Given the description of an element on the screen output the (x, y) to click on. 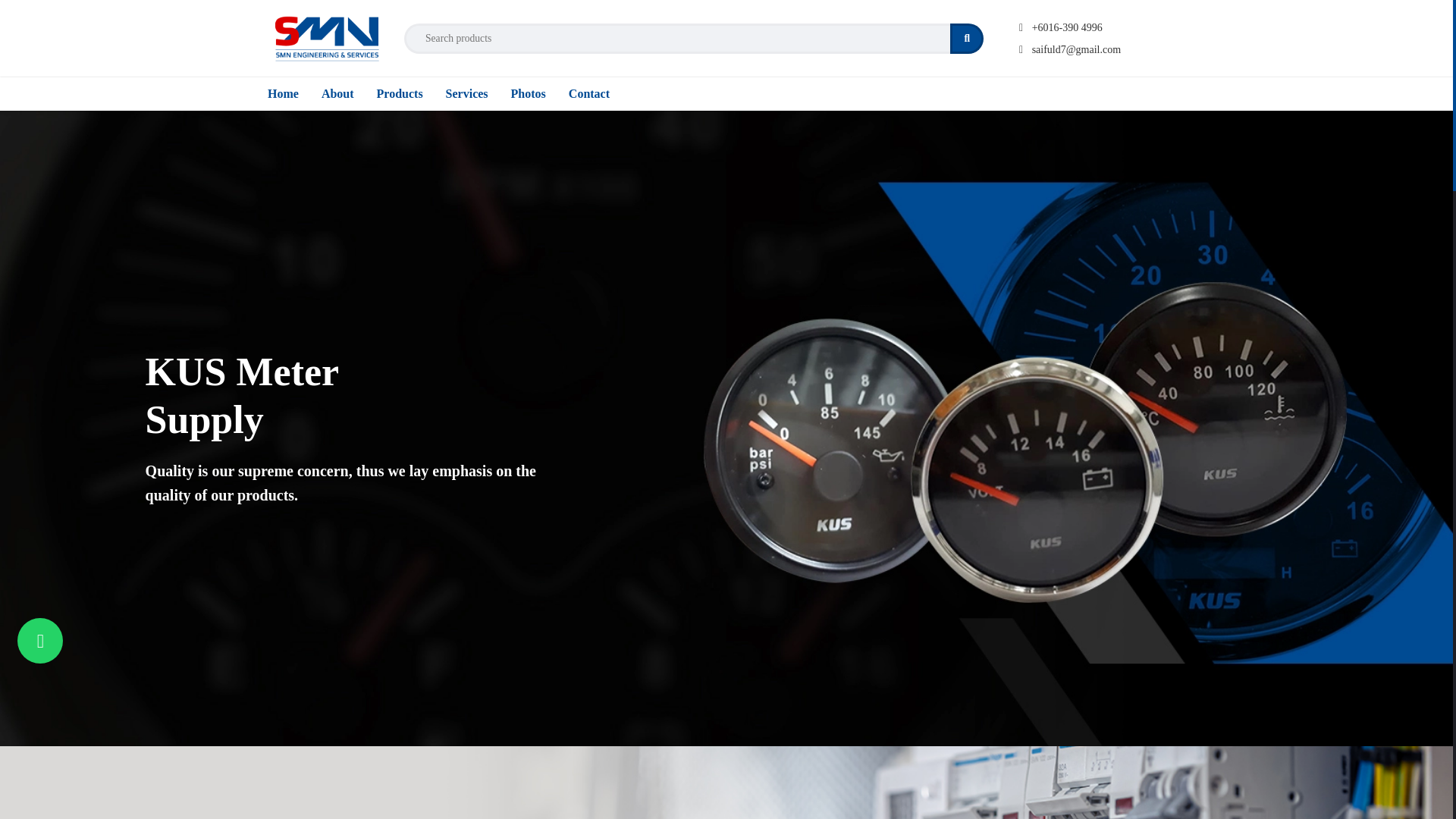
Products (399, 93)
Home (283, 93)
Contact (589, 93)
Home (283, 93)
About (337, 93)
Services (466, 93)
About (337, 93)
Contact (589, 93)
Photos (528, 93)
Services (466, 93)
Products (399, 93)
Photos (528, 93)
